Given the description of an element on the screen output the (x, y) to click on. 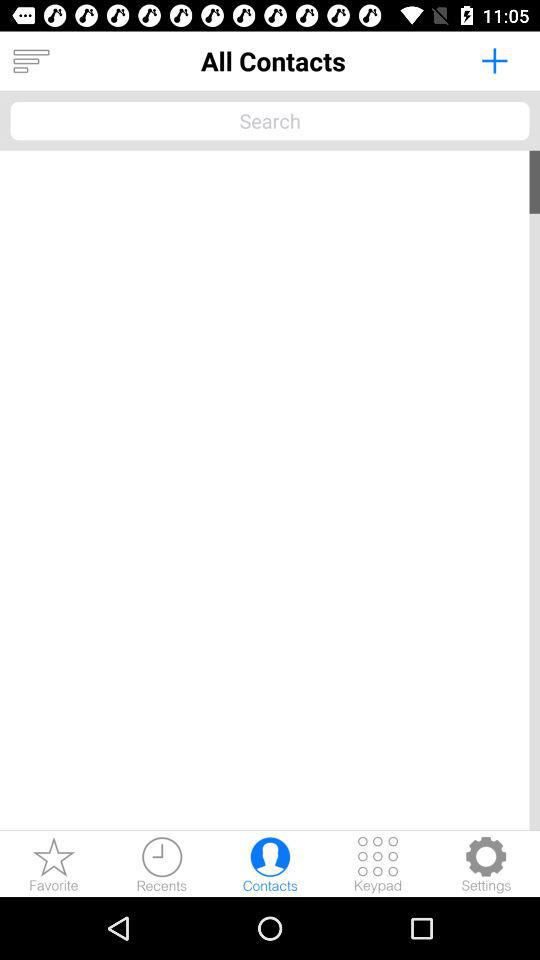
displays your contacts (31, 61)
